Given the description of an element on the screen output the (x, y) to click on. 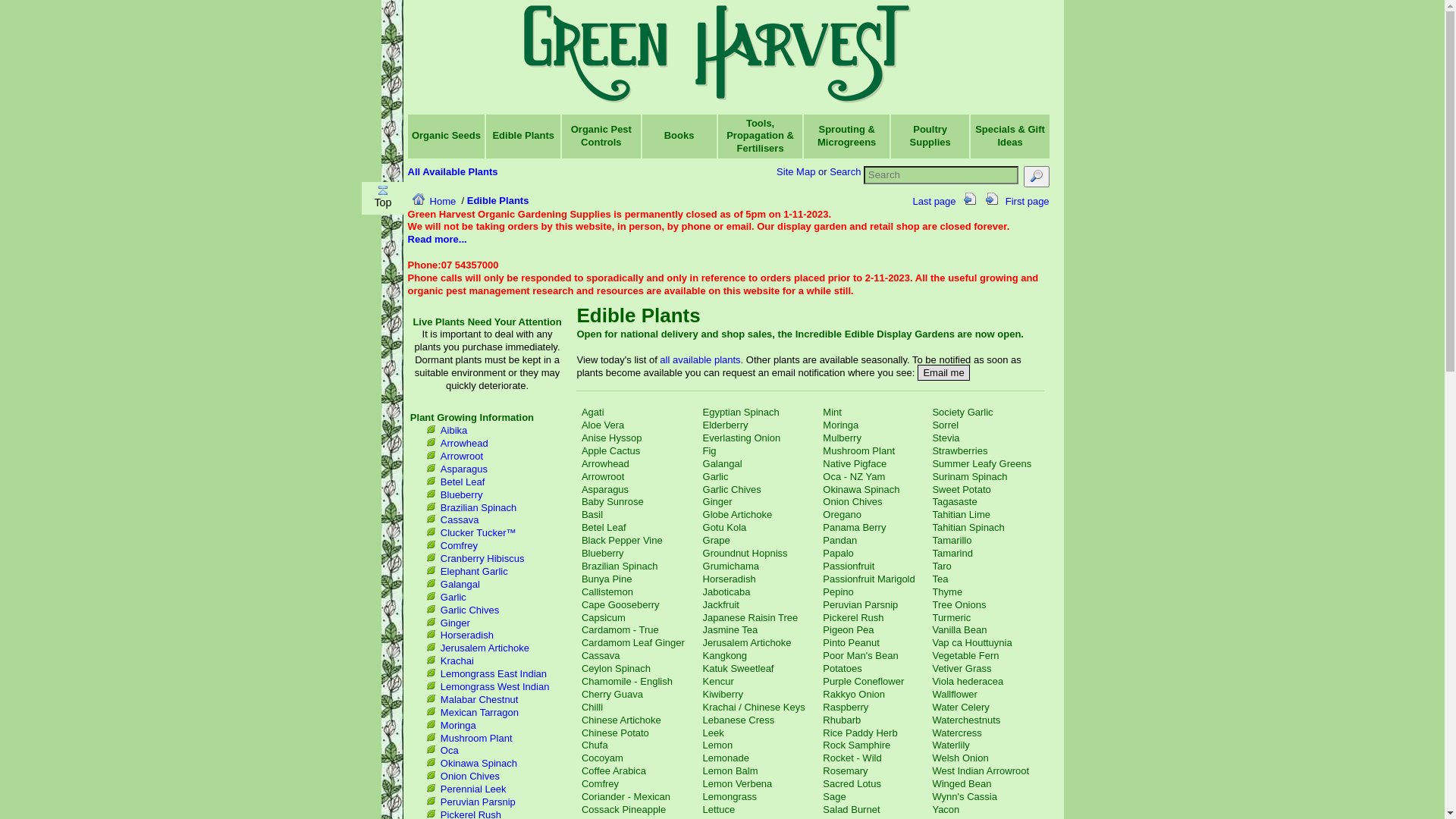
Grumichama Element type: text (730, 565)
Read more... Element type: text (437, 238)
Lemon Verbena Element type: text (737, 783)
Basil Element type: text (591, 514)
Water Celery Element type: text (959, 706)
Vanilla Bean Element type: text (958, 629)
Oregano Element type: text (841, 514)
Lemongrass East Indian Element type: text (493, 673)
Elderberry Element type: text (725, 424)
Mulberry Element type: text (841, 437)
Coffee Arabica Element type: text (613, 770)
Lemon Element type: text (717, 744)
Tamarind Element type: text (951, 552)
Last page Element type: text (964, 194)
Apple Cactus Element type: text (610, 450)
Black Pepper Vine Element type: text (621, 540)
Search Element type: text (844, 171)
Horseradish Element type: text (466, 634)
Arrowhead Element type: text (464, 442)
Jasmine Tea Element type: text (730, 629)
Rakkyo Onion Element type: text (853, 693)
Organic Pest Controls Element type: text (601, 135)
Pandan Element type: text (839, 540)
Jackfruit Element type: text (720, 604)
Top Element type: text (382, 197)
Brazilian Spinach Element type: text (478, 507)
Tools, Propagation & Fertilisers Element type: text (759, 134)
Waterlily Element type: text (950, 744)
Kangkong Element type: text (724, 655)
Cassava Element type: text (600, 655)
Green Harvest Title Logo Element type: hover (717, 55)
search Element type: text (1035, 176)
Chufa Element type: text (594, 744)
Mushroom Plant Element type: text (476, 737)
Rhubarb Element type: text (841, 719)
Callistemon Element type: text (607, 591)
Moringa Element type: text (840, 424)
Society Garlic Element type: text (961, 411)
Scroll Up Icon Element type: hover (382, 190)
Pigeon Pea Element type: text (847, 629)
Raspberry Element type: text (845, 706)
Books Element type: text (679, 135)
Mushroom Plant Element type: text (858, 450)
Baby Sunrose Element type: text (612, 501)
Lemongrass West Indian Element type: text (494, 686)
Elephant Garlic Element type: text (474, 571)
Viola hederacea Element type: text (967, 681)
Tamarillo Element type: text (951, 540)
Stevia Element type: text (945, 437)
Watercress Element type: text (956, 732)
Krachai / Chinese Keys Element type: text (753, 706)
Garlic Element type: text (453, 596)
Comfrey Element type: text (599, 783)
West Indian Arrowroot Element type: text (980, 770)
Waterchestnuts Element type: text (965, 719)
Arrowroot Element type: text (602, 476)
Sorrel Element type: text (944, 424)
Home Element type: text (431, 201)
Cocoyam Element type: text (602, 757)
Perennial Leek Element type: text (473, 788)
Sprouting & Microgreens Element type: text (846, 135)
Sacred Lotus Element type: text (851, 783)
Cossack Pineapple Element type: text (623, 809)
Everlasting Onion Element type: text (741, 437)
Organic Seeds Element type: text (445, 135)
Kencur Element type: text (718, 681)
Asparagus Element type: text (604, 489)
Jerusalem Artichoke Element type: text (484, 647)
Galangal Element type: text (722, 463)
Poor Man's Bean Element type: text (859, 655)
Taro Element type: text (940, 565)
Cardamom Leaf Ginger Element type: text (632, 642)
Bunya Pine Element type: text (606, 578)
Tagasaste Element type: text (953, 501)
Cape Gooseberry Element type: text (620, 604)
Ceylon Spinach Element type: text (615, 668)
Wallflower Element type: text (953, 693)
Salad Burnet Element type: text (850, 809)
Onion Chives Element type: text (469, 775)
Gotu Kola Element type: text (724, 527)
Lettuce Element type: text (718, 809)
Anise Hyssop Element type: text (611, 437)
Comfrey Element type: text (458, 545)
Lemongrass Element type: text (729, 796)
Native Pigface Element type: text (854, 463)
Wynn's Cassia Element type: text (963, 796)
Summer Leafy Greens Element type: text (981, 463)
Groundnut Hopniss Element type: text (744, 552)
Pinto Peanut Element type: text (850, 642)
Fig Element type: text (709, 450)
Garlic Element type: text (715, 476)
Arrowhead Element type: text (605, 463)
Cardamom - True Element type: text (619, 629)
Edible Plants Element type: text (523, 135)
Globe Artichoke Element type: text (737, 514)
Peruvian Parsnip Element type: text (477, 801)
Strawberries Element type: text (959, 450)
Pepino Element type: text (837, 591)
Ginger Element type: text (455, 622)
Peruvian Parsnip Element type: text (859, 604)
Leek Element type: text (713, 732)
Magnifier Icon Element type: hover (1036, 175)
Asparagus Element type: text (463, 468)
Mint Element type: text (831, 411)
Potatoes Element type: text (841, 668)
Tahitian Lime Element type: text (960, 514)
Blueberry Element type: text (602, 552)
Jerusalem Artichoke Element type: text (746, 642)
Welsh Onion Element type: text (959, 757)
confirm Element type: text (24, 293)
Cassava Element type: text (459, 519)
Krachai Element type: text (456, 660)
Chamomile - English Element type: text (626, 681)
Chilli Element type: text (591, 706)
Vap ca Houttuynia Element type: text (971, 642)
Onion Chives Element type: text (851, 501)
Rosemary Element type: text (844, 770)
Winged Bean Element type: text (961, 783)
Garlic Chives Element type: text (731, 489)
Arrowroot Element type: text (461, 455)
Horseradish Element type: text (729, 578)
Agati Element type: text (592, 411)
Brazilian Spinach Element type: text (619, 565)
Betel Leaf Element type: text (462, 481)
Moringa Element type: text (458, 725)
Cranberry Hibiscus Element type: text (482, 558)
Malabar Chestnut Element type: text (479, 699)
Purple Coneflower Element type: text (862, 681)
All Available Plants Element type: text (452, 171)
Rocket - Wild Element type: text (851, 757)
First page Element type: text (1020, 194)
Poultry Supplies Element type: text (930, 135)
Rice Paddy Herb Element type: text (859, 732)
all available plants Element type: text (699, 359)
Specials & Gift Ideas Element type: text (1009, 135)
Okinawa Spinach Element type: text (860, 489)
Sage Element type: text (833, 796)
Grape Element type: text (716, 540)
Kiwiberry Element type: text (722, 693)
Passionfruit Marigold Element type: text (868, 578)
Aloe Vera Element type: text (602, 424)
Ginger Element type: text (717, 501)
Tahitian Spinach Element type: text (967, 527)
Cherry Guava Element type: text (612, 693)
Galangal Element type: text (460, 583)
Capsicum Element type: text (603, 616)
Mexican Tarragon Element type: text (479, 712)
Lebanese Cress Element type: text (738, 719)
Site Map Element type: text (795, 171)
Okinawa Spinach Element type: text (478, 762)
Oca - NZ Yam Element type: text (853, 476)
Chinese Potato Element type: text (615, 732)
Jaboticaba Element type: text (726, 591)
Egyptian Spinach Element type: text (740, 411)
Papalo Element type: text (837, 552)
Thyme Element type: text (946, 591)
Vetiver Grass Element type: text (961, 668)
Rock Samphire Element type: text (856, 744)
Coriander - Mexican Element type: text (625, 796)
Japanese Raisin Tree Element type: text (750, 616)
Pickerel Rush Element type: text (852, 616)
Surinam Spinach Element type: text (969, 476)
Chinese Artichoke Element type: text (621, 719)
Aibika Element type: text (453, 430)
Lemonade Element type: text (725, 757)
Yacon Element type: text (945, 809)
Panama Berry Element type: text (853, 527)
Tea Element type: text (939, 578)
Turmeric Element type: text (950, 616)
Blueberry Element type: text (461, 494)
Sweet Potato Element type: text (960, 489)
Garlic Chives Element type: text (469, 609)
Katuk Sweetleaf Element type: text (738, 668)
Vegetable Fern Element type: text (964, 655)
Lemon Balm Element type: text (730, 770)
Betel Leaf Element type: text (603, 527)
Oca Element type: text (449, 750)
Tree Onions Element type: text (958, 604)
Passionfruit Element type: text (848, 565)
